Given the description of an element on the screen output the (x, y) to click on. 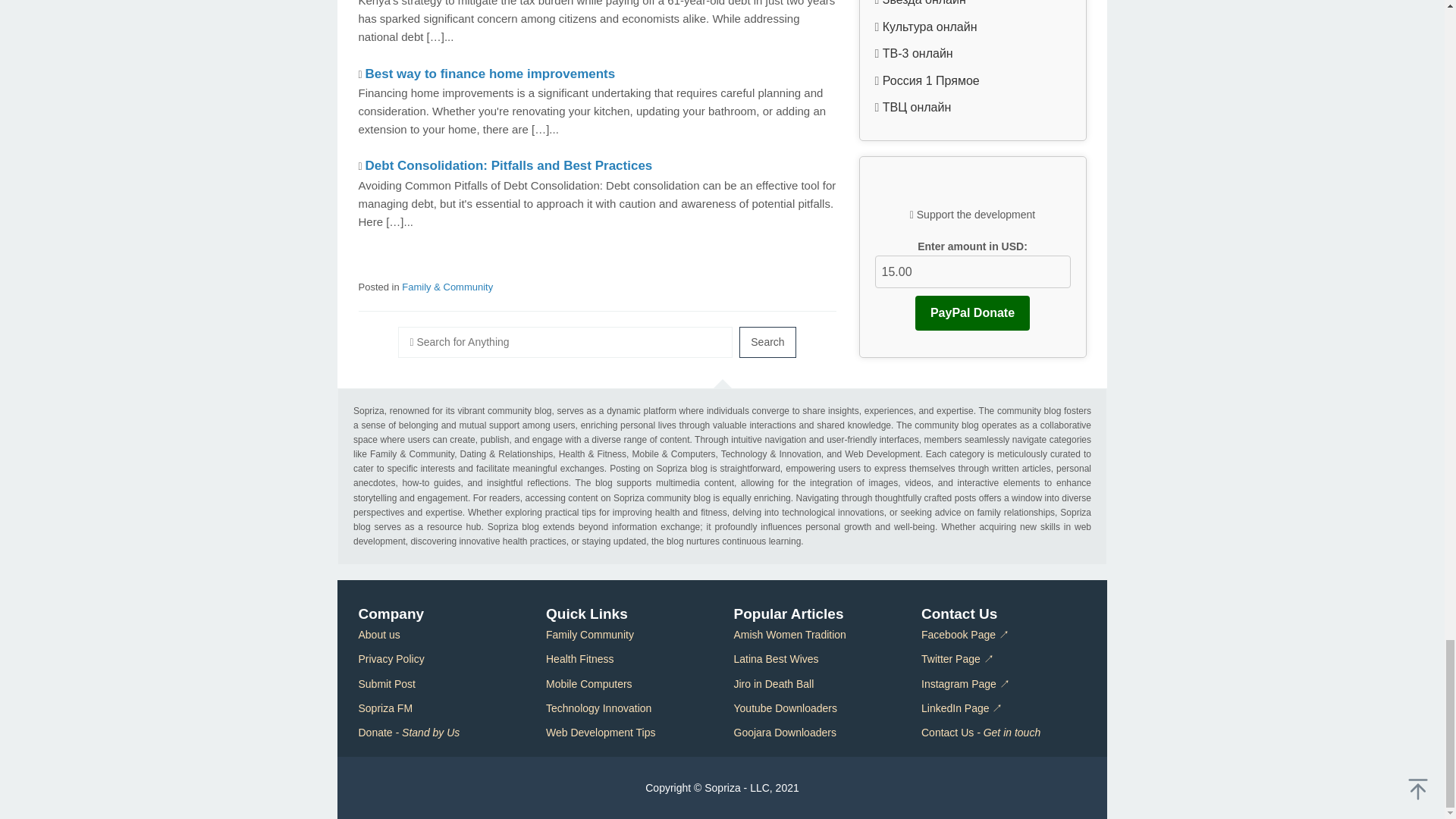
Search (766, 341)
Debt Consolidation: Pitfalls and Best Practices (508, 165)
Best way to finance home improvements (490, 73)
